Given the description of an element on the screen output the (x, y) to click on. 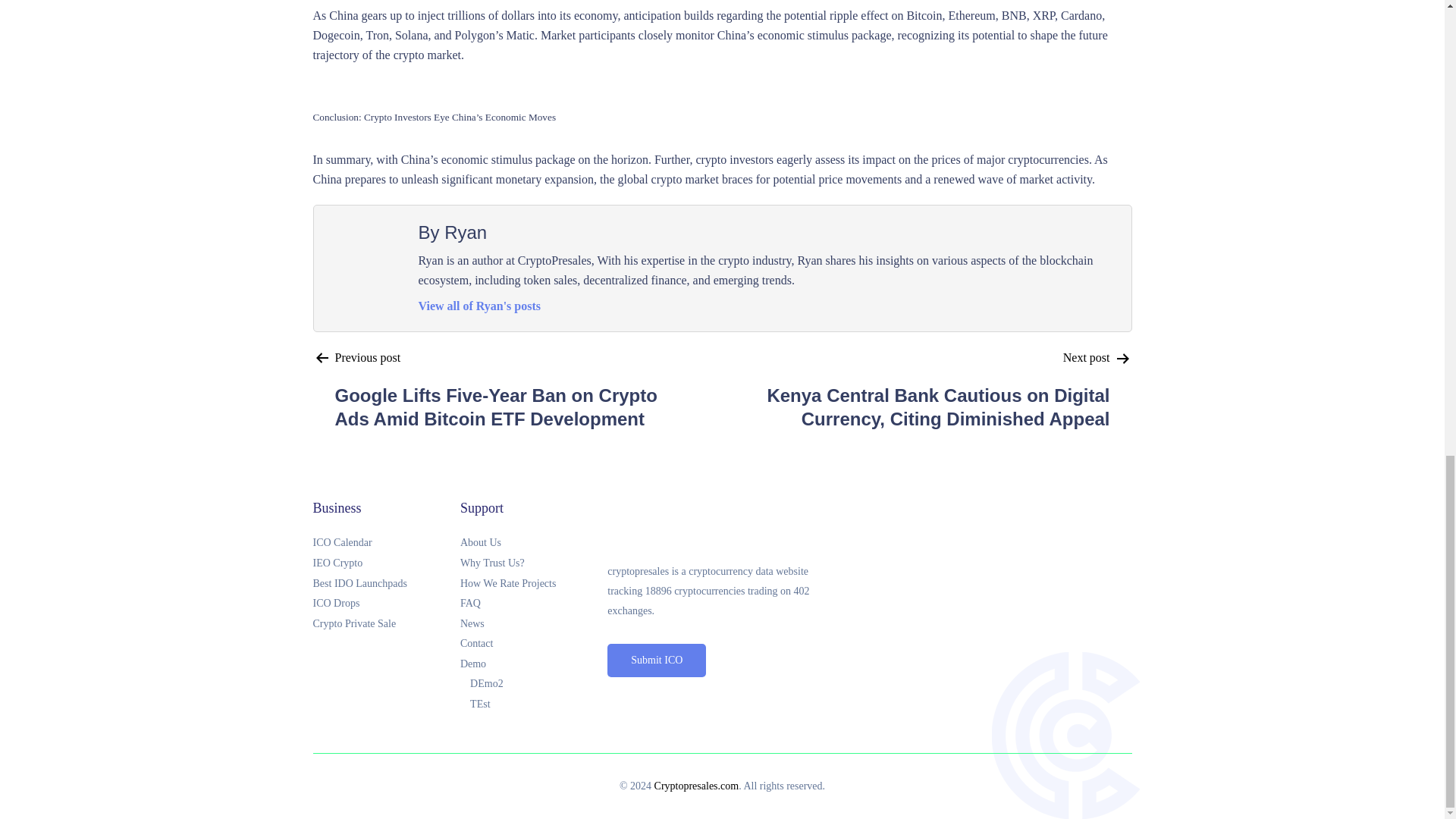
How We Rate Projects (533, 584)
Cryptopresales.com (696, 785)
ICO Drops (386, 603)
Why Trust Us? (533, 563)
Best IDO Launchpads (386, 584)
Crypto Private Sale (386, 624)
About Us (533, 543)
News (533, 624)
Demo (533, 664)
FAQ (533, 603)
View all of Ryan's posts (480, 306)
ICO Calendar (386, 543)
TEst (538, 704)
